Given the description of an element on the screen output the (x, y) to click on. 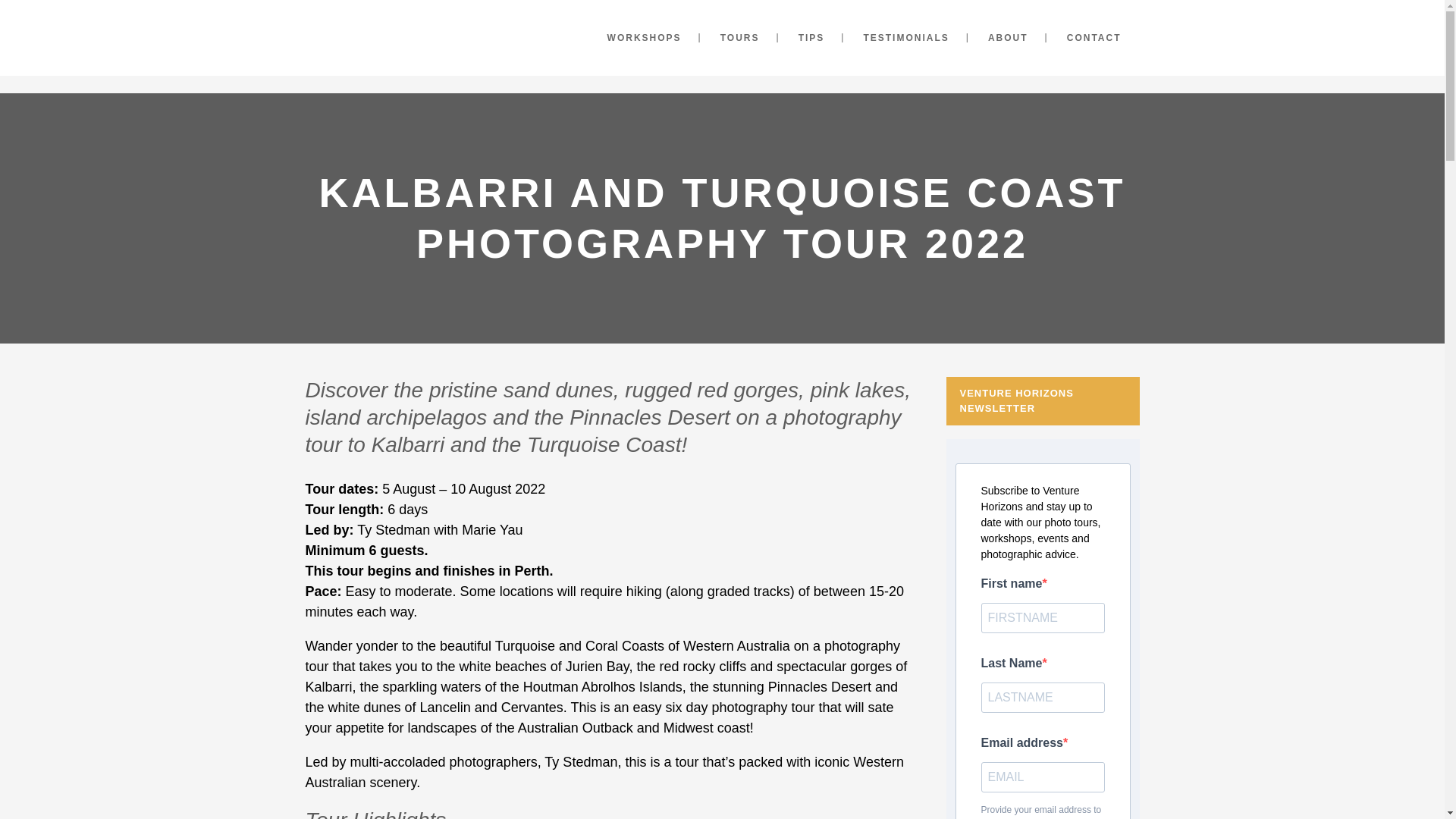
WORKSHOPS (644, 38)
TOURS (739, 38)
ABOUT (1007, 38)
CONTACT (1094, 38)
TESTIMONIALS (905, 38)
